Given the description of an element on the screen output the (x, y) to click on. 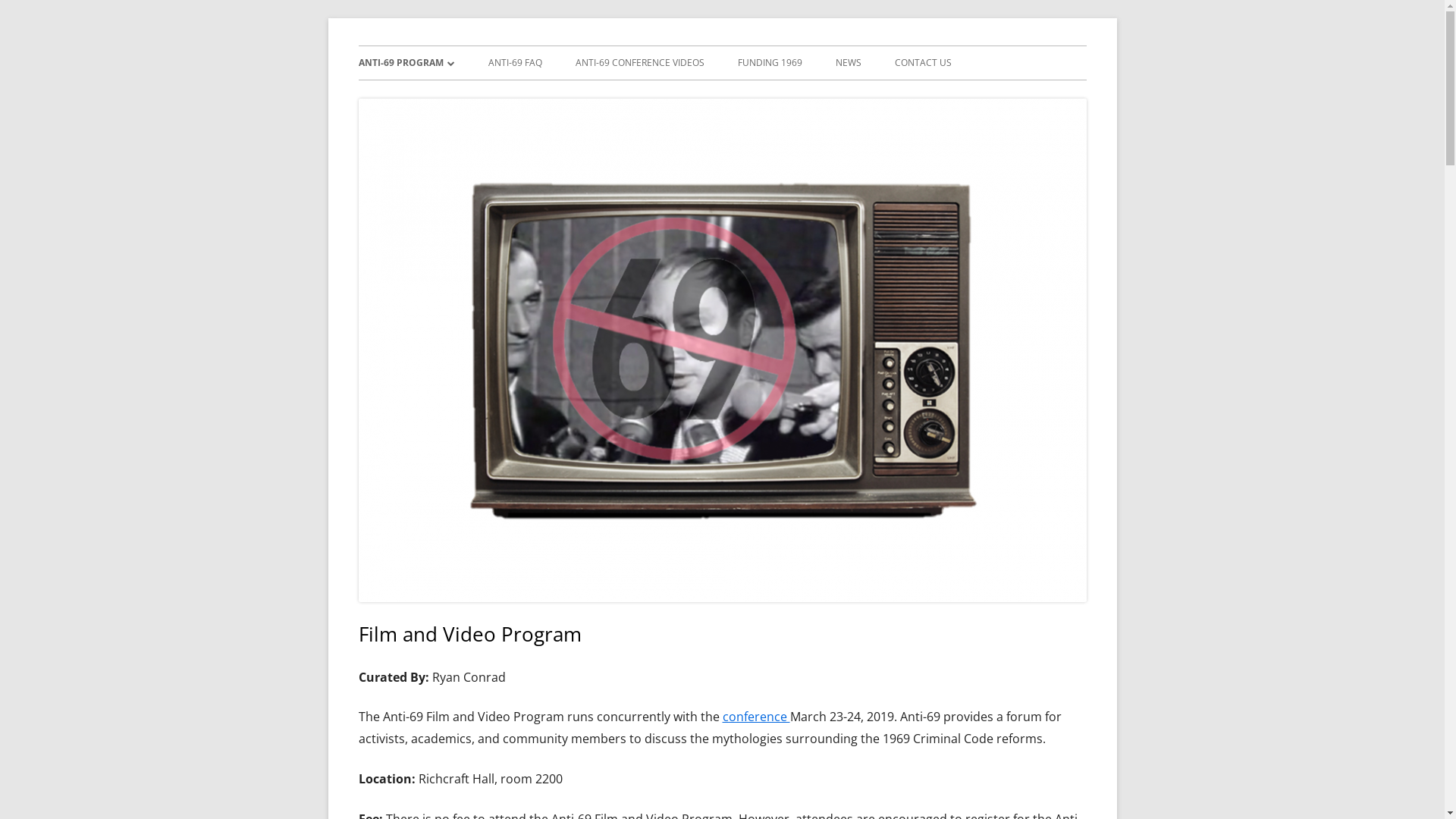
ANTI-69 FAQ Element type: text (515, 62)
ANTI-69 PROGRAM Element type: text (405, 62)
Anti-69 Element type: text (390, 45)
ANTI-69 CONFERENCE VIDEOS Element type: text (638, 62)
FUNDING 1969 Element type: text (769, 62)
CONTACT US Element type: text (922, 62)
ANTI-69 SPEAKERS Element type: text (444, 94)
conference Element type: text (755, 716)
NEWS Element type: text (848, 62)
